Given the description of an element on the screen output the (x, y) to click on. 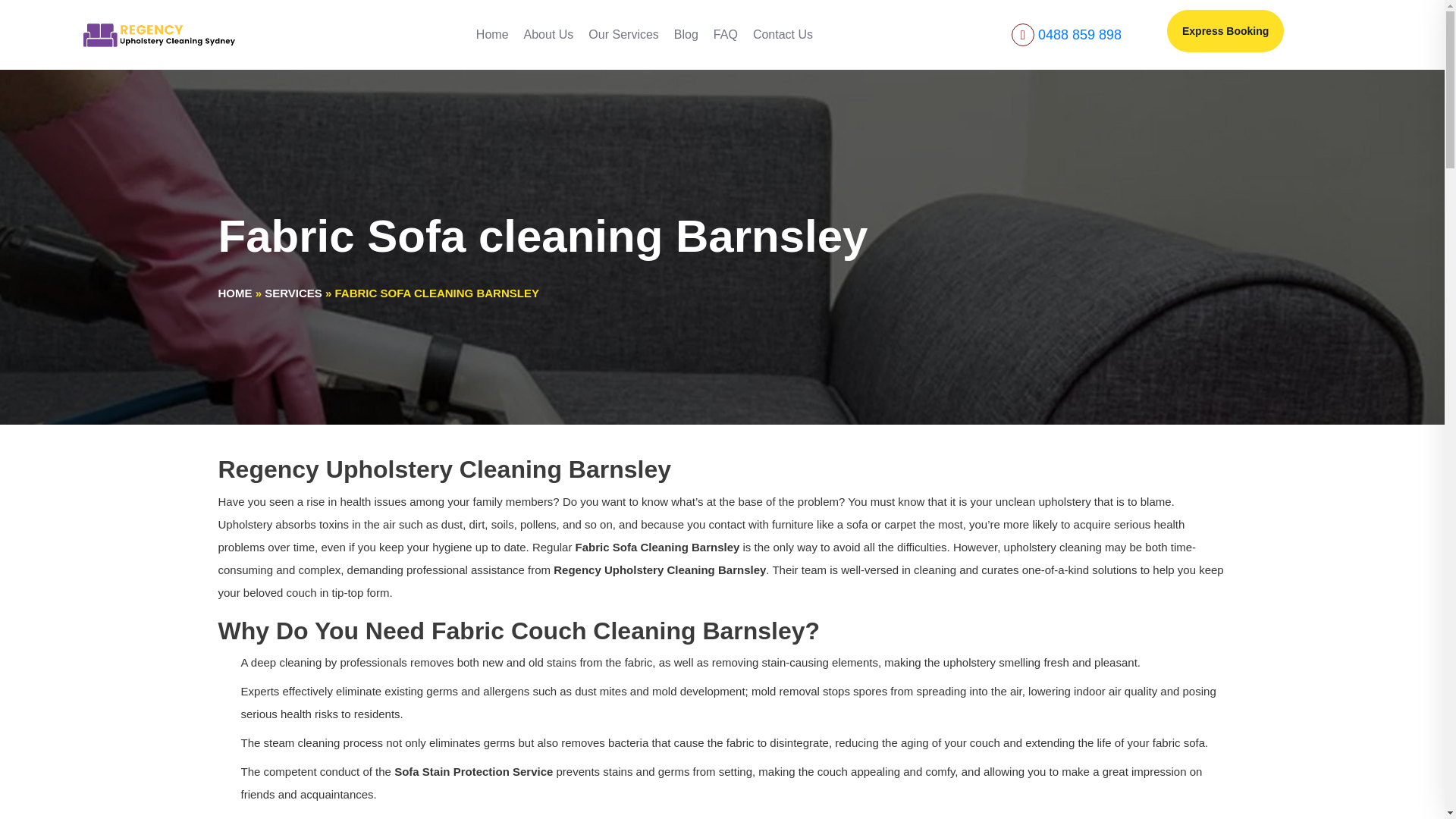
Express Booking (1225, 31)
SERVICES (292, 292)
Contact Us (783, 34)
About Us (548, 34)
0488 859 898 (1079, 34)
HOME (234, 292)
Our Services (622, 34)
